Given the description of an element on the screen output the (x, y) to click on. 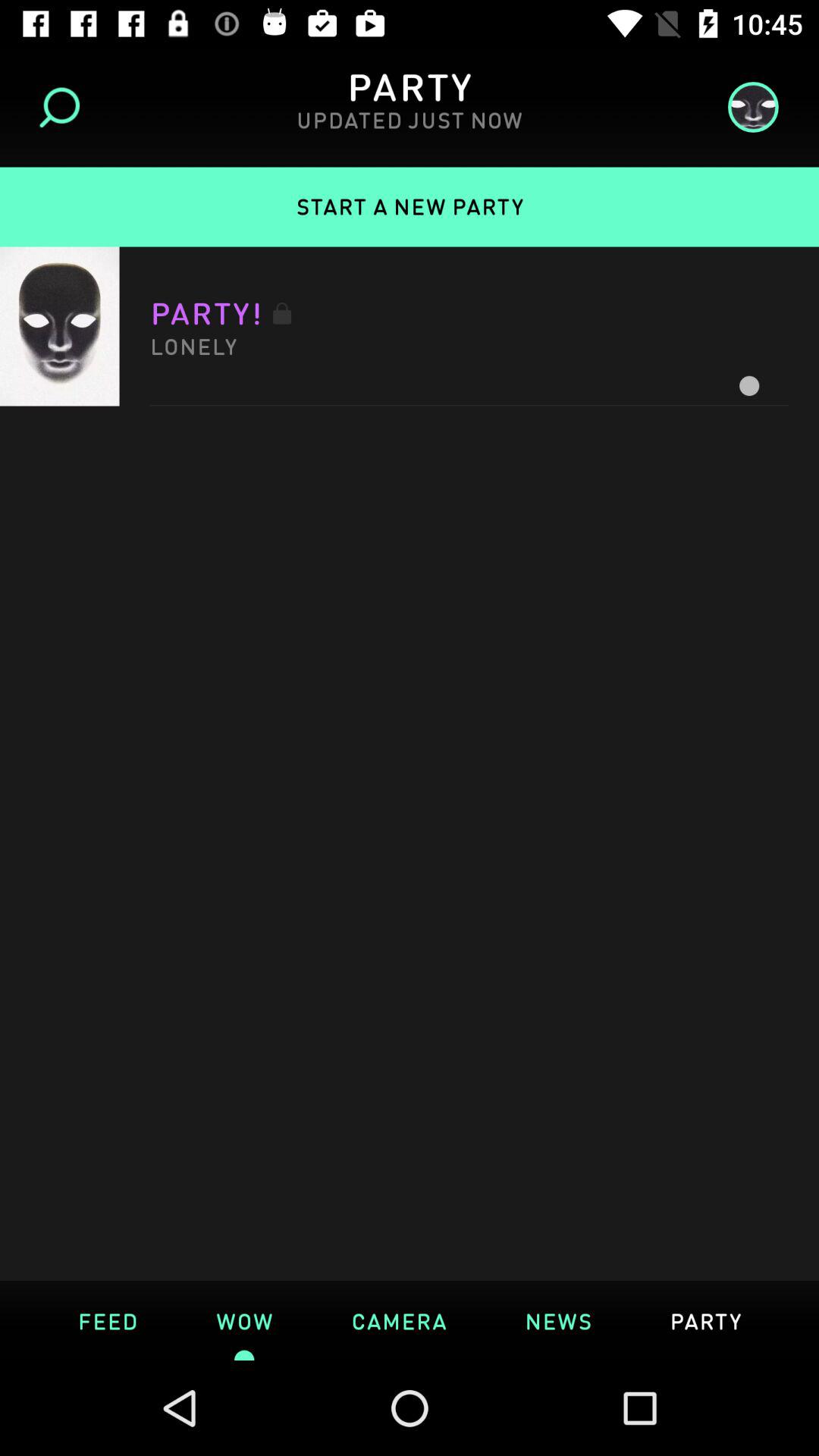
toggle search (64, 107)
